Given the description of an element on the screen output the (x, y) to click on. 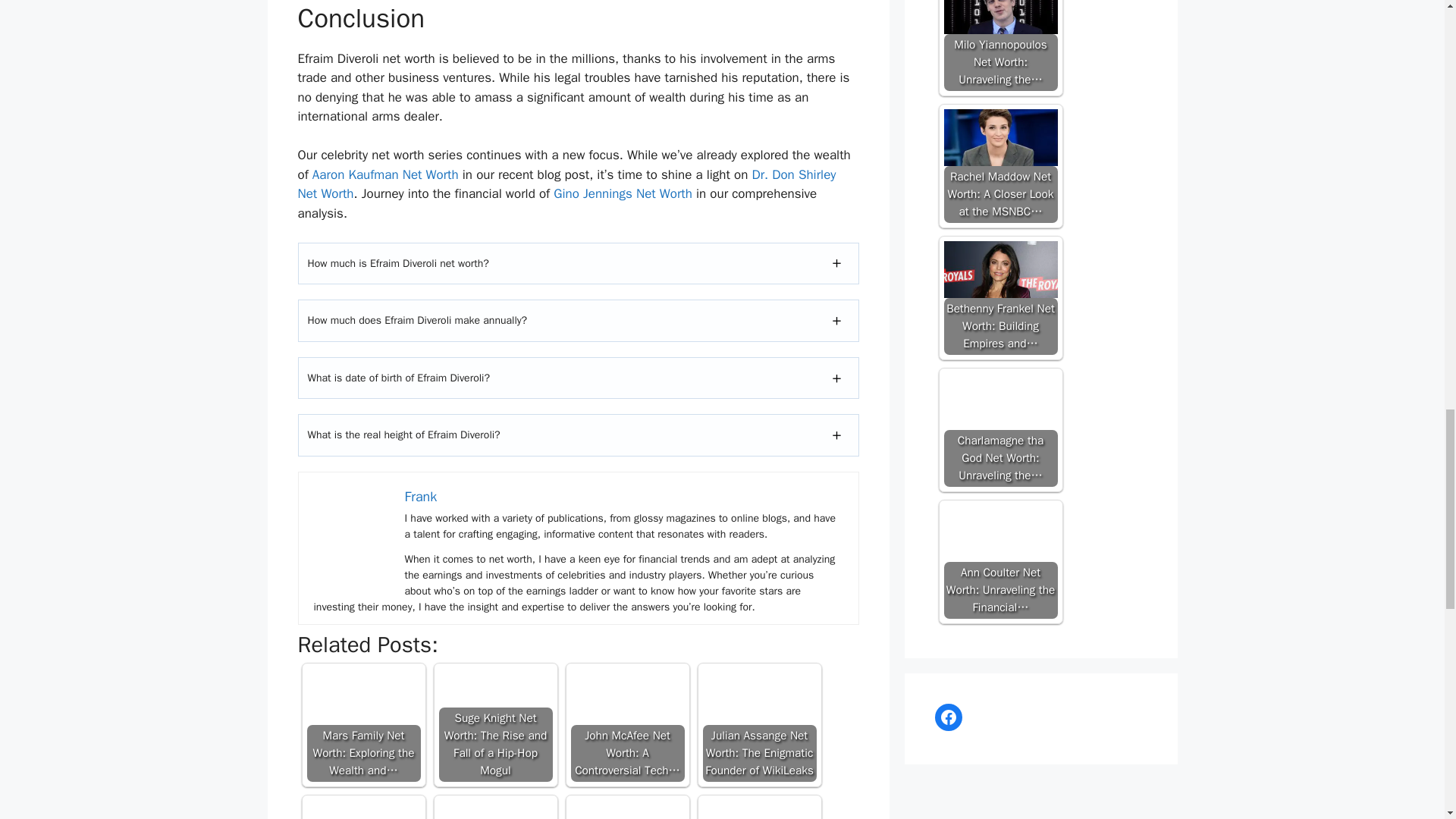
Jacob Arabo Net Worth: The Jewelry Designer (362, 809)
Suge Knight Net Worth: The Rise and Fall of a Hip-Hop Mogul (494, 725)
Gino Jennings Net Worth (623, 193)
Frank (421, 496)
Kenneth Supreme McGriff Net Worth: The Ill-Gotten Fortune (758, 809)
Aaron Kaufman Net Worth (385, 174)
Suge Knight Net Worth: The Rise and Fall of a Hip-Hop Mogul (494, 696)
Julian Assange Net Worth: The Enigmatic Founder of WikiLeaks (758, 725)
Dr. Don Shirley Net Worth (566, 184)
Frank White (352, 525)
Julian Assange Net Worth: The Enigmatic Founder of WikiLeaks (758, 696)
